Given the description of an element on the screen output the (x, y) to click on. 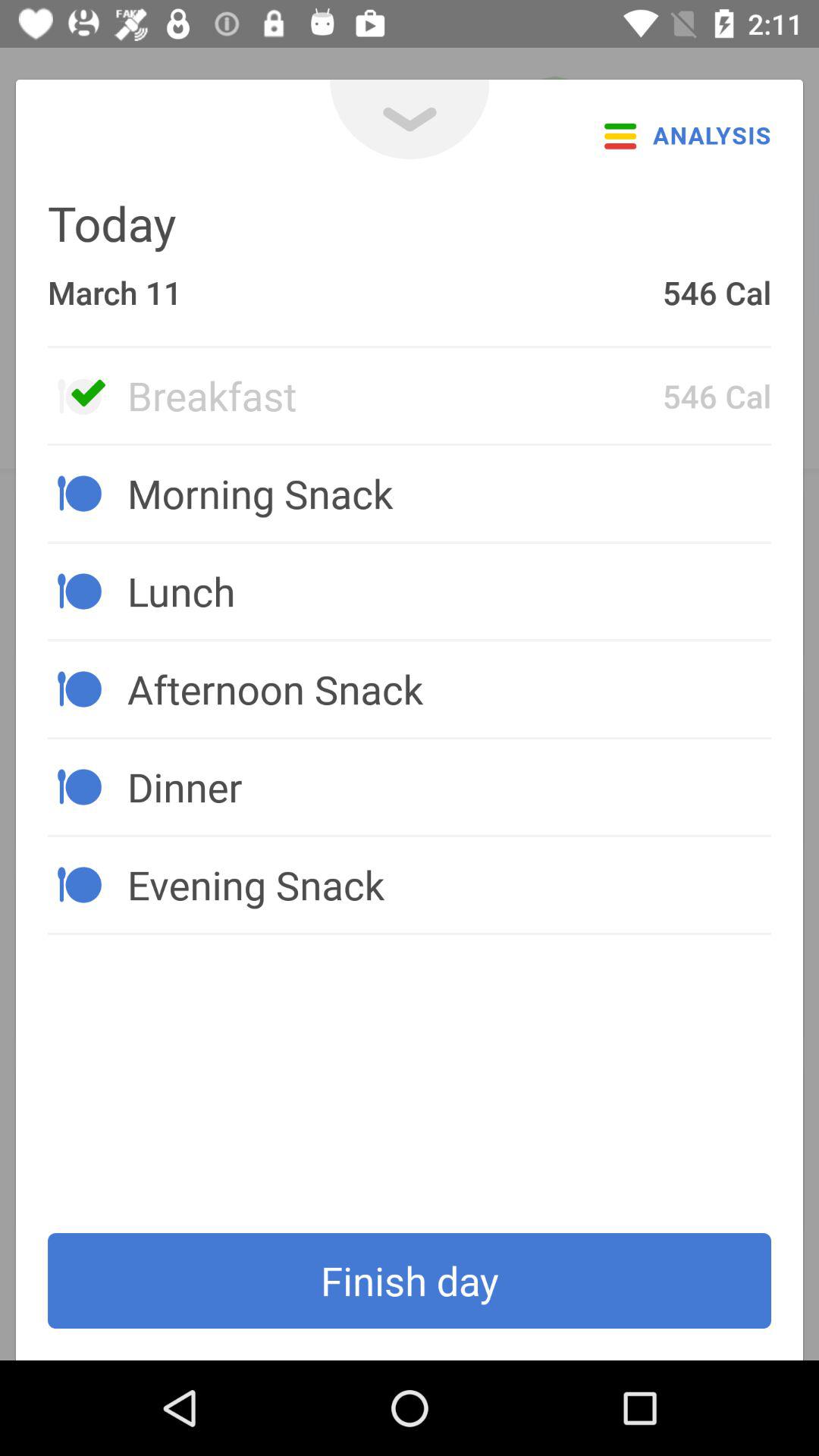
press the evening snack icon (449, 884)
